Given the description of an element on the screen output the (x, y) to click on. 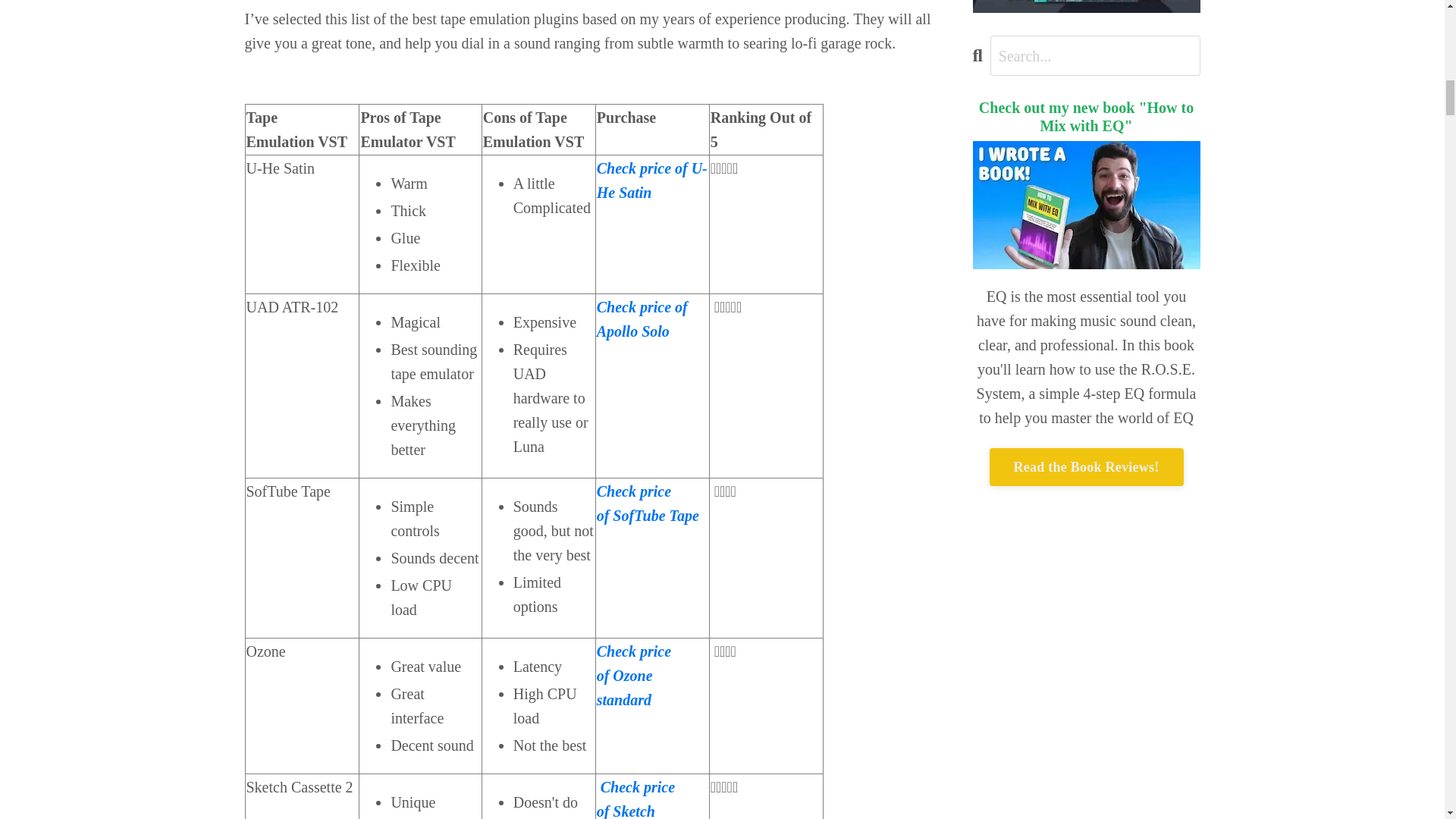
Check price of Apollo Solo (641, 318)
Check price of Sketch Cassette II (635, 798)
Check price of Ozone standard (633, 675)
Check price of U-He Satin (651, 179)
Check price of SofTube Tape (647, 503)
